Given the description of an element on the screen output the (x, y) to click on. 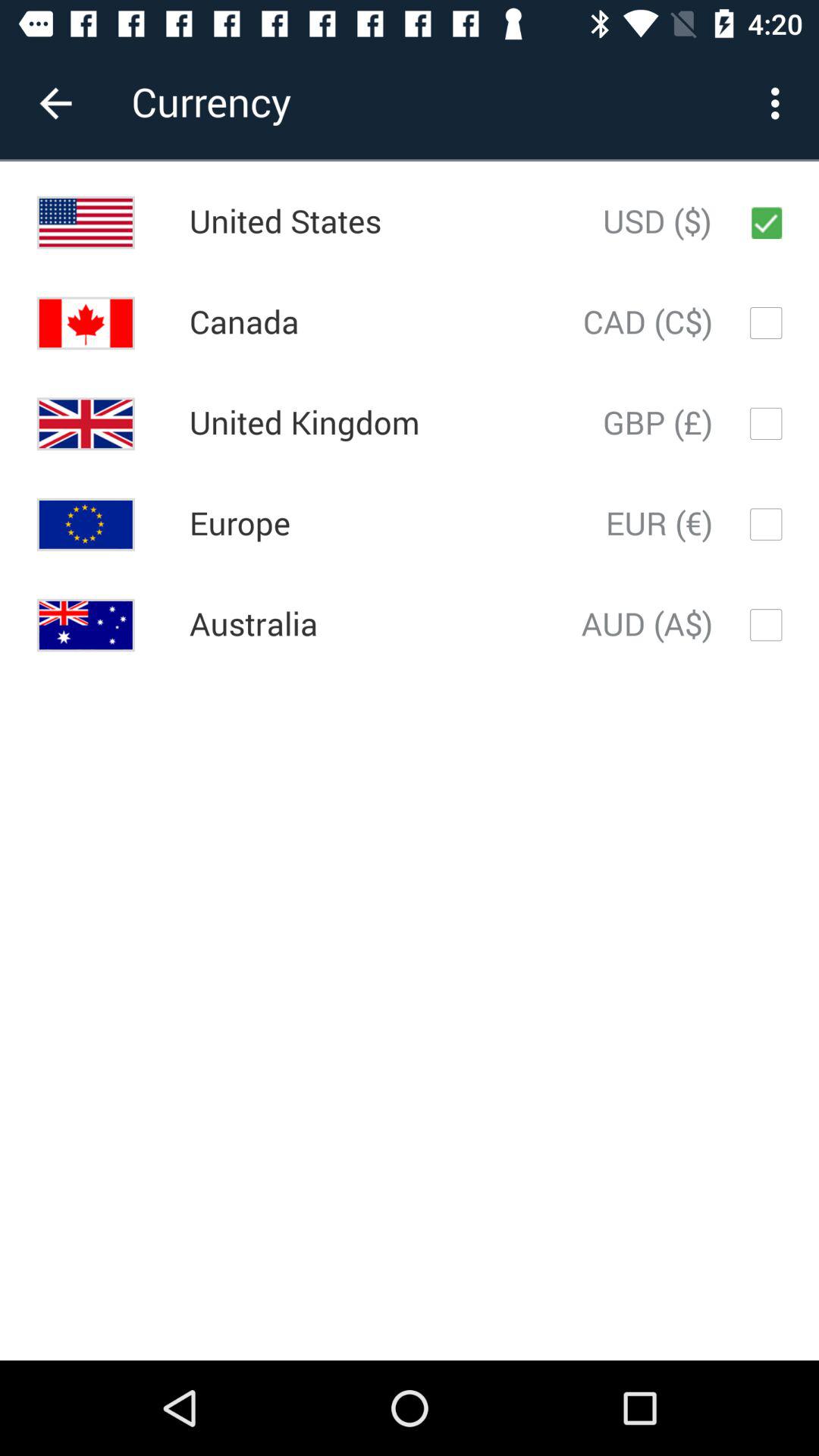
scroll to the australia item (253, 624)
